Given the description of an element on the screen output the (x, y) to click on. 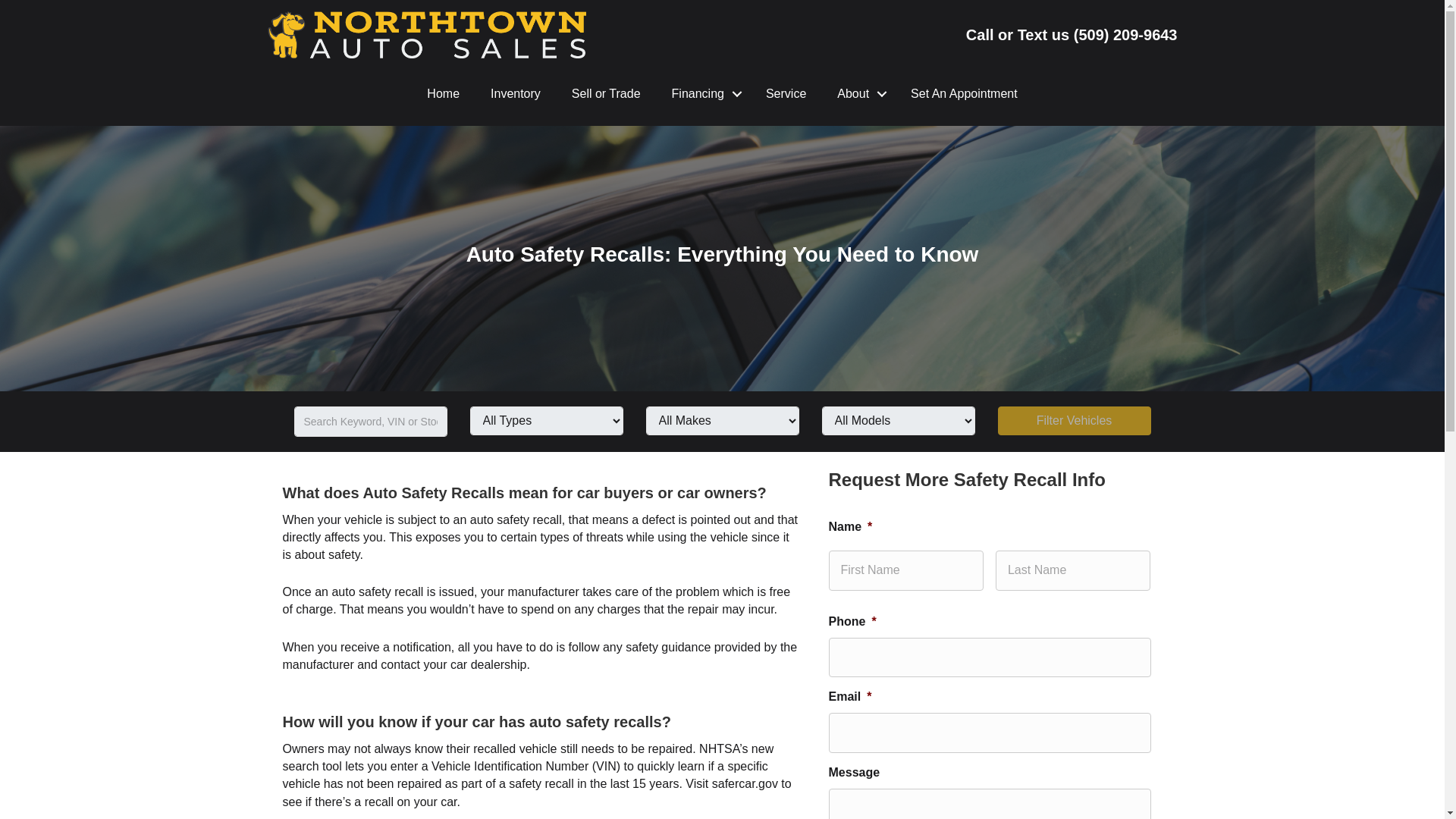
2020-NAS-Logo-Wide-Light (425, 34)
Home (443, 93)
Filter Vehicles (1074, 420)
Service (786, 93)
Inventory (516, 93)
About (858, 93)
Set An Appointment (963, 93)
Financing (702, 93)
Sell or Trade (606, 93)
